Given the description of an element on the screen output the (x, y) to click on. 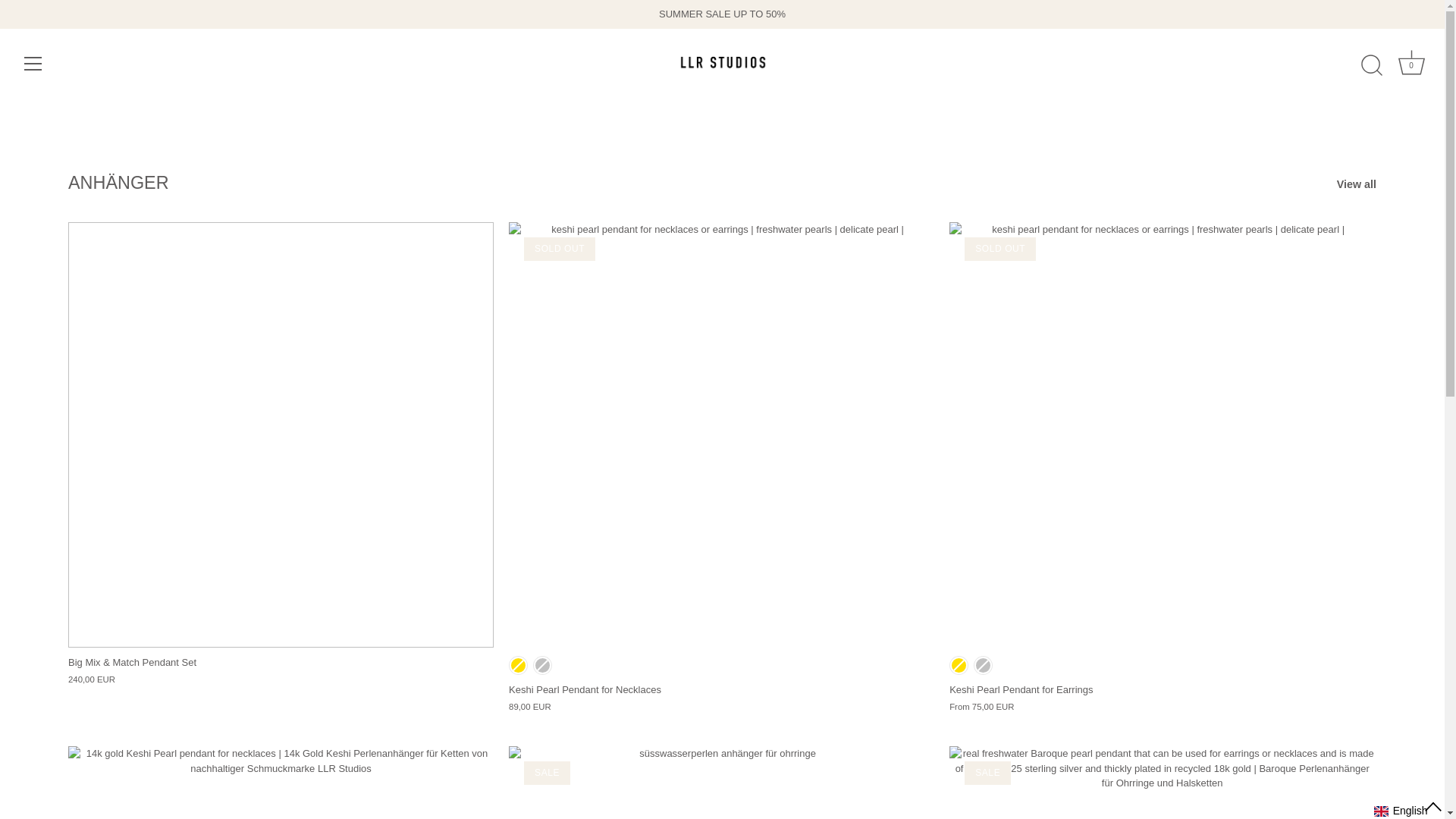
Cart (1411, 62)
925 sterling silver 18k gold plated (518, 665)
925 sterling silver (982, 665)
925 sterling silver 18k gold plated (1411, 65)
Skip to content (959, 665)
